Given the description of an element on the screen output the (x, y) to click on. 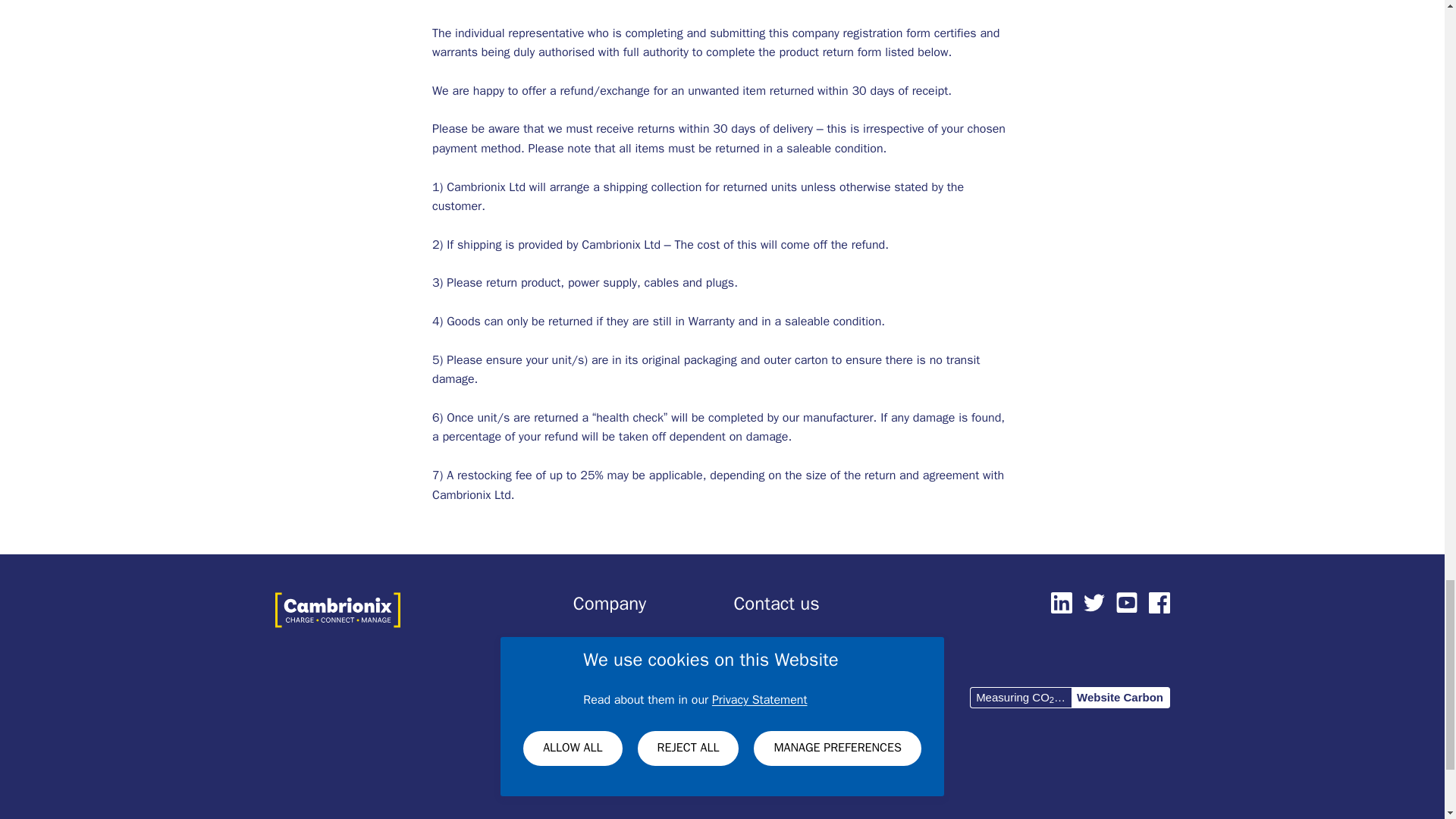
Software Licence Terms (636, 698)
Get a quote (764, 643)
Visit our Facebook page (1158, 602)
About us (596, 643)
Visit our Youtube page (1126, 602)
Product User Manuals (791, 724)
Support Center (773, 670)
Visit our LinkedIn page (1061, 602)
Visit our Twitter page (1093, 602)
Privacy Statement (620, 724)
